Given the description of an element on the screen output the (x, y) to click on. 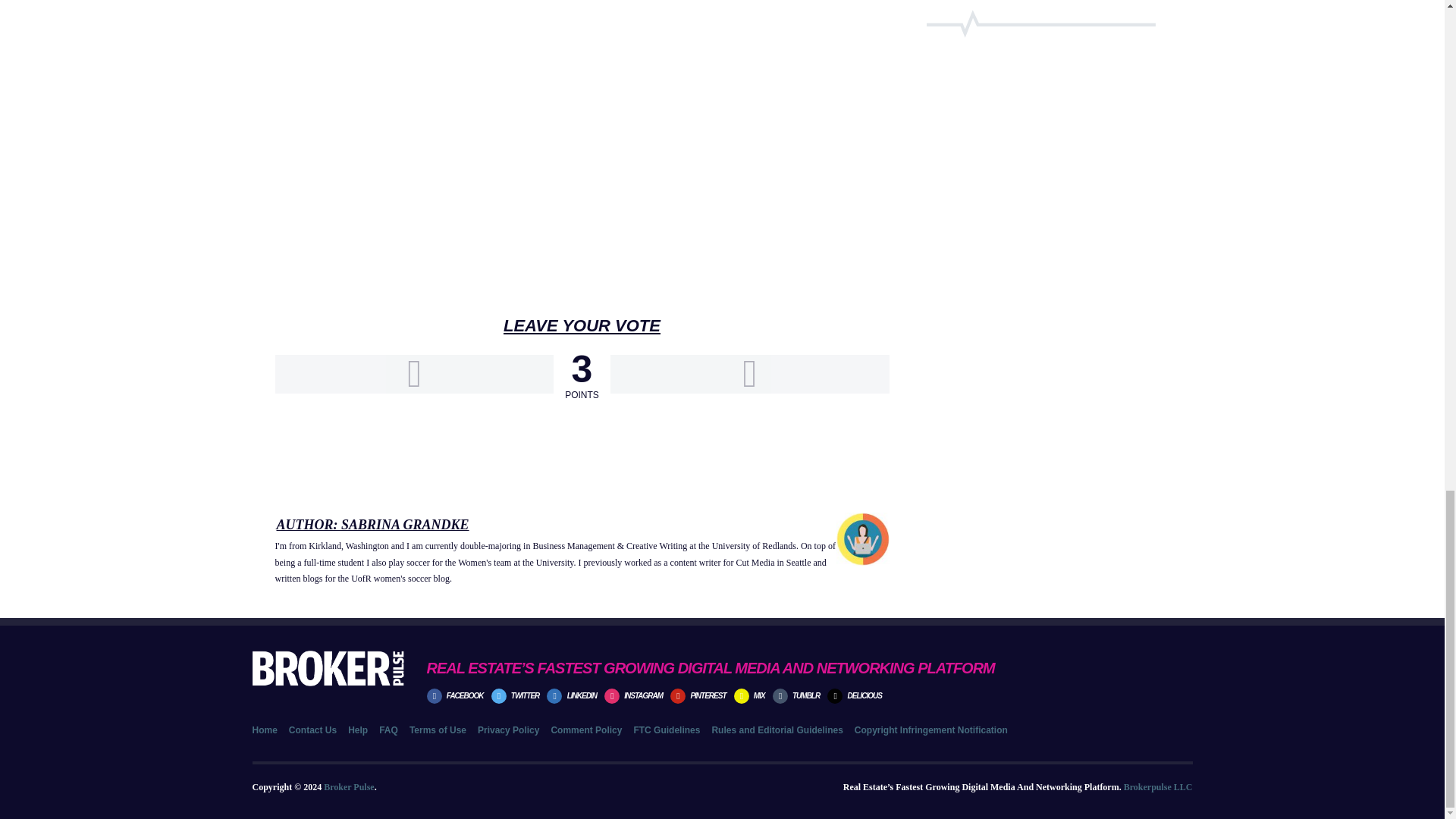
Downvote (749, 373)
Upvote (414, 373)
Downvote (749, 373)
Upvote (414, 373)
SABRINA GRANDKE (404, 524)
WPZOOM WordPress Themes (1158, 787)
